Given the description of an element on the screen output the (x, y) to click on. 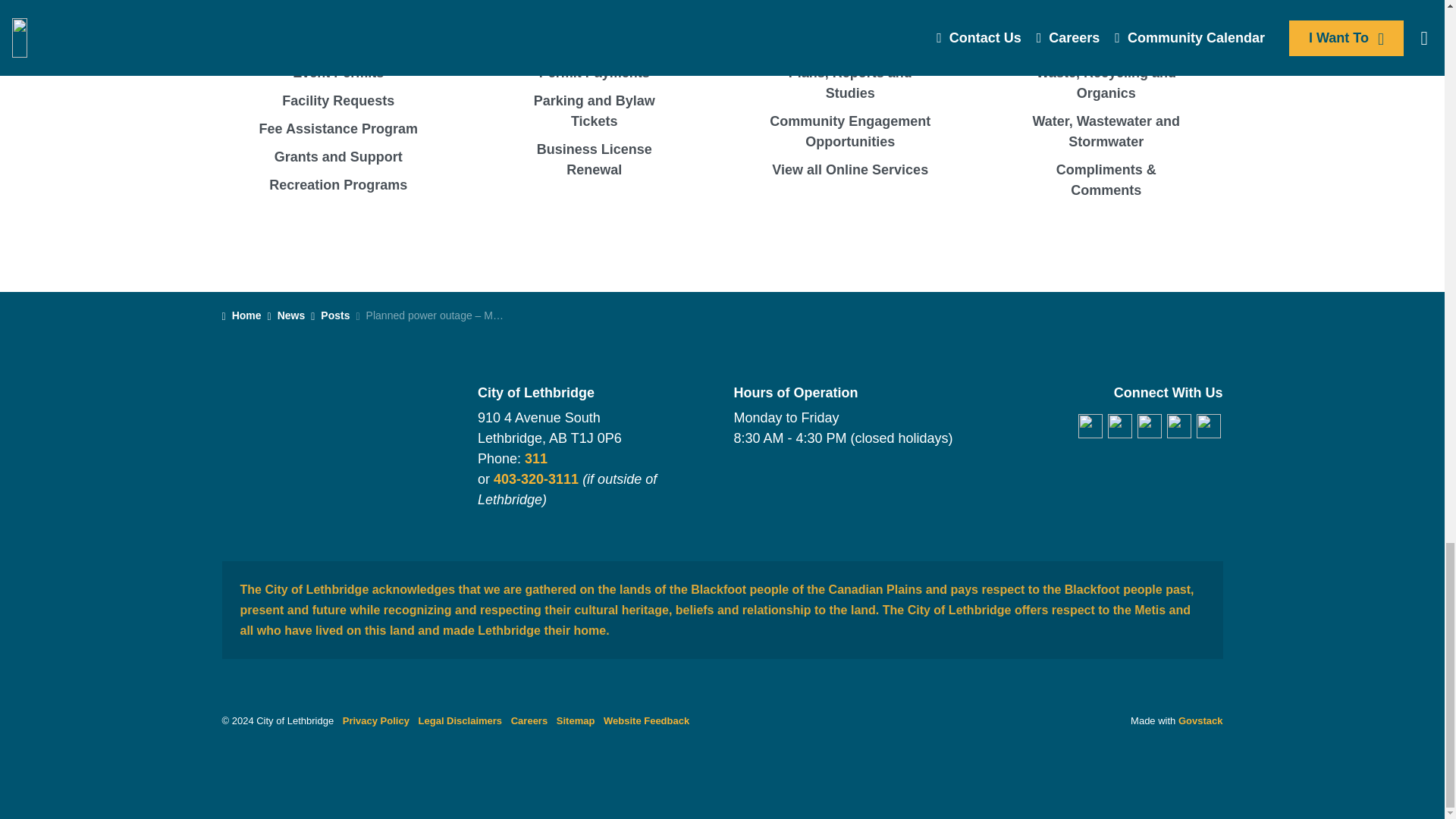
Waste Collection Schedule (850, 34)
Event Permits (338, 72)
Water, Wastewater and Stormwater (594, 44)
Facility Requests (338, 100)
Event Rental and Permits (338, 72)
Burning Permits (338, 1)
Council Policies (850, 5)
Recreation Programs (338, 185)
Development Permits (338, 44)
Event Rental and Permits (338, 100)
